Given the description of an element on the screen output the (x, y) to click on. 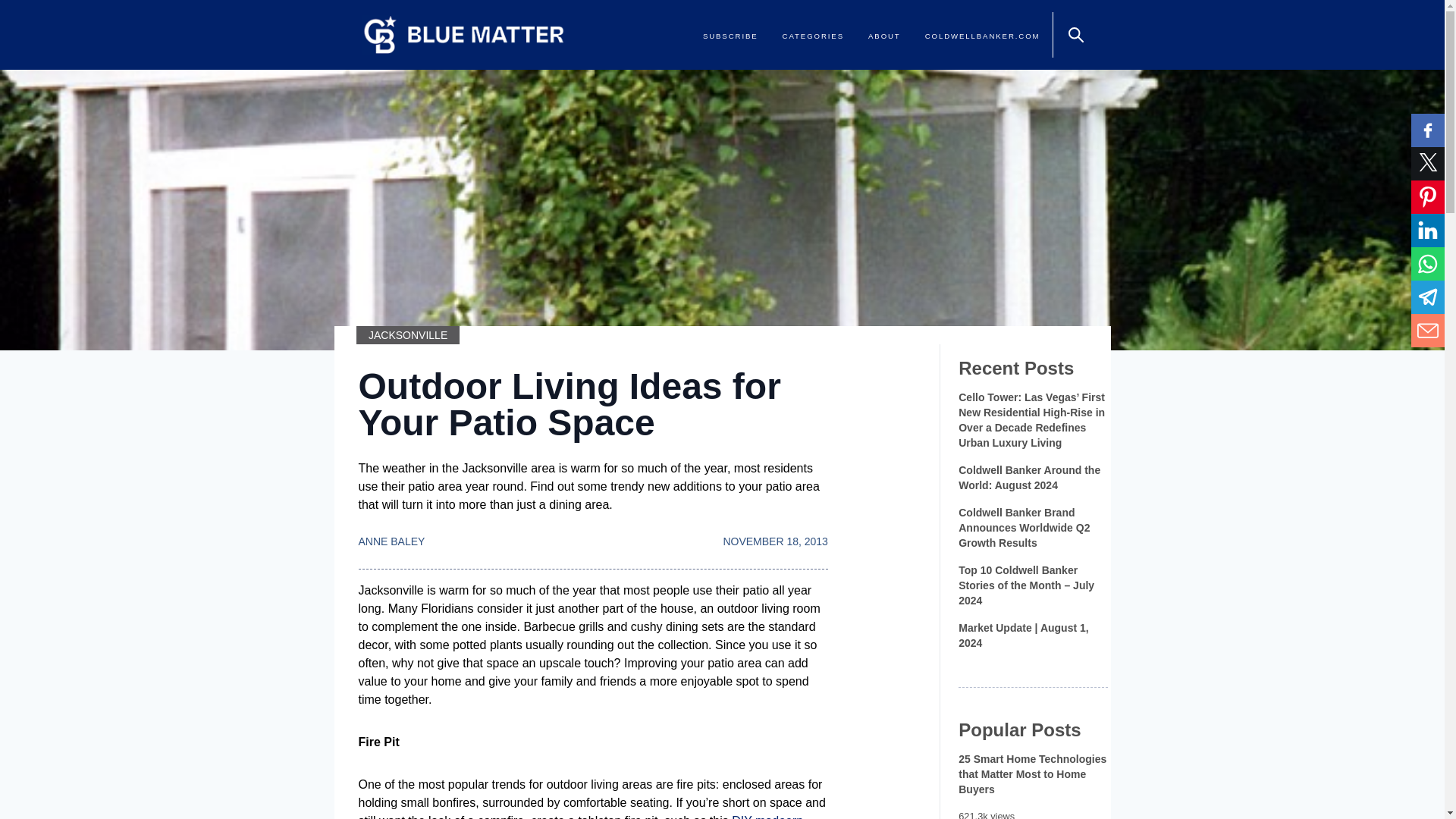
ANNE BALEY (391, 541)
Coldwell Banker Around the World: August 2024 (1032, 477)
SUBSCRIBE (730, 35)
ABOUT (884, 35)
Coldwell Banker Brand Announces Worldwide Q2 Growth Results (1032, 527)
COLDWELLBANKER.COM (982, 35)
CATEGORIES (813, 35)
JACKSONVILLE (408, 334)
25 Smart Home Technologies that Matter Most to Home Buyers (1032, 773)
